Given the description of an element on the screen output the (x, y) to click on. 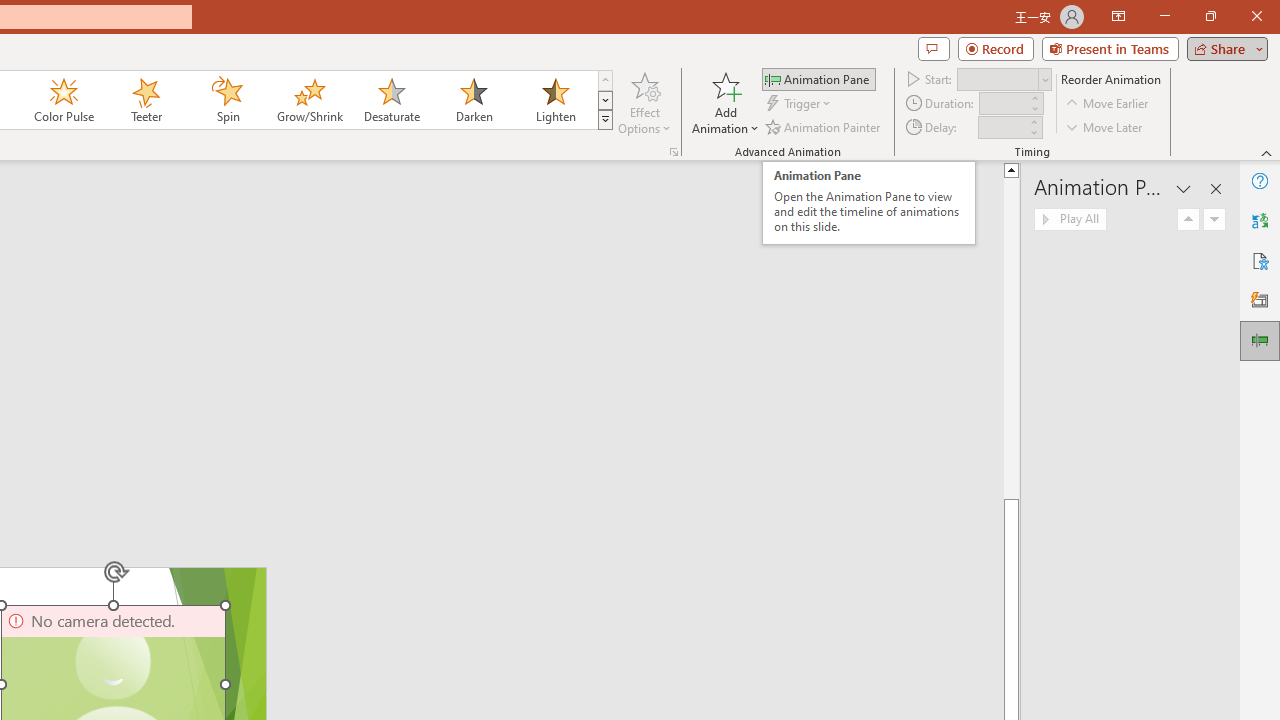
Move Down (1214, 219)
More Options... (673, 151)
Lighten (555, 100)
Teeter (145, 100)
Color Pulse (63, 100)
Move Earlier (1107, 103)
